Given the description of an element on the screen output the (x, y) to click on. 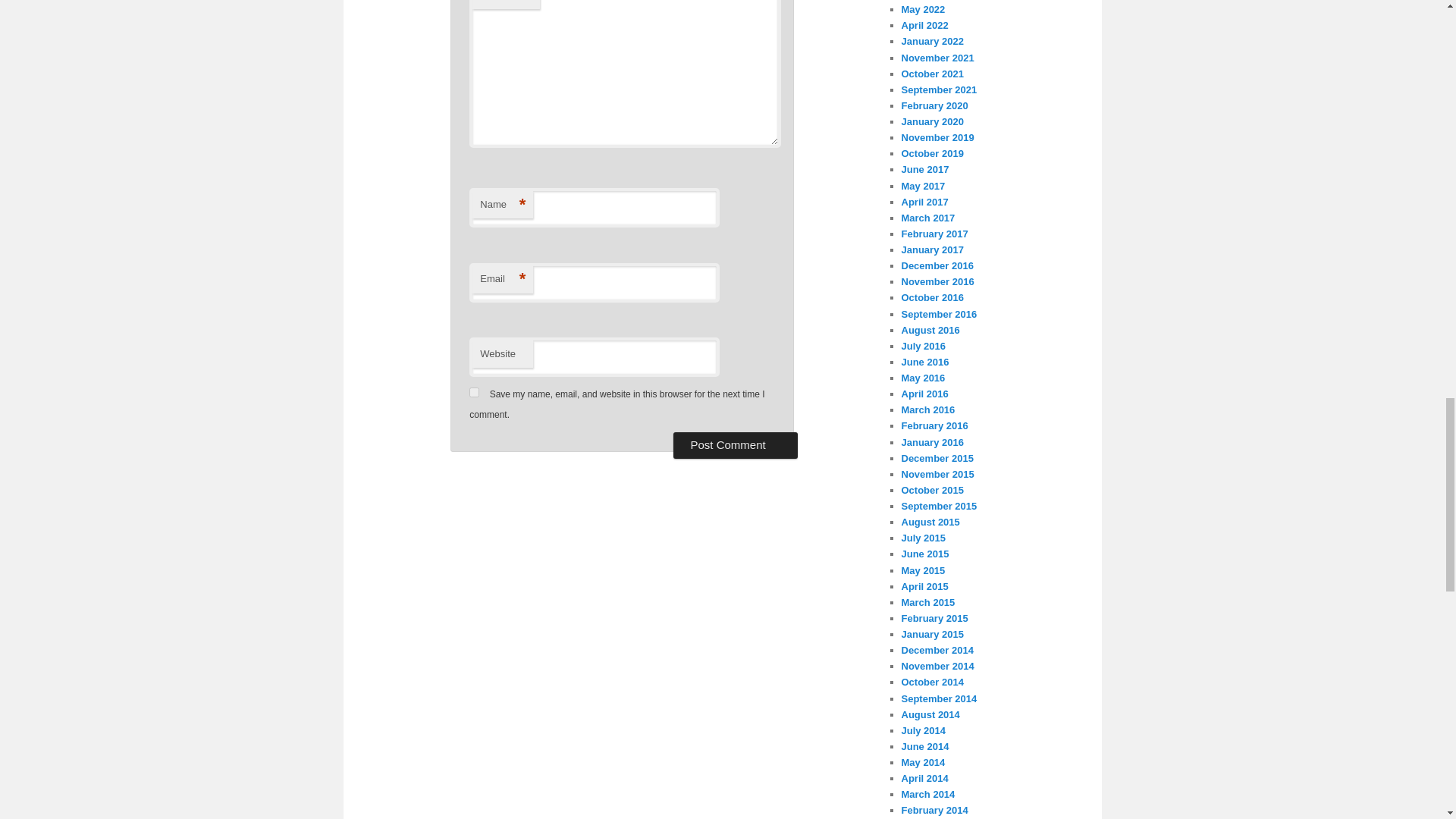
February 2020 (934, 105)
January 2022 (931, 41)
May 2022 (922, 9)
Post Comment (734, 444)
April 2022 (924, 25)
Post Comment (734, 444)
yes (473, 392)
September 2021 (938, 89)
November 2021 (937, 57)
October 2021 (931, 73)
